Given the description of an element on the screen output the (x, y) to click on. 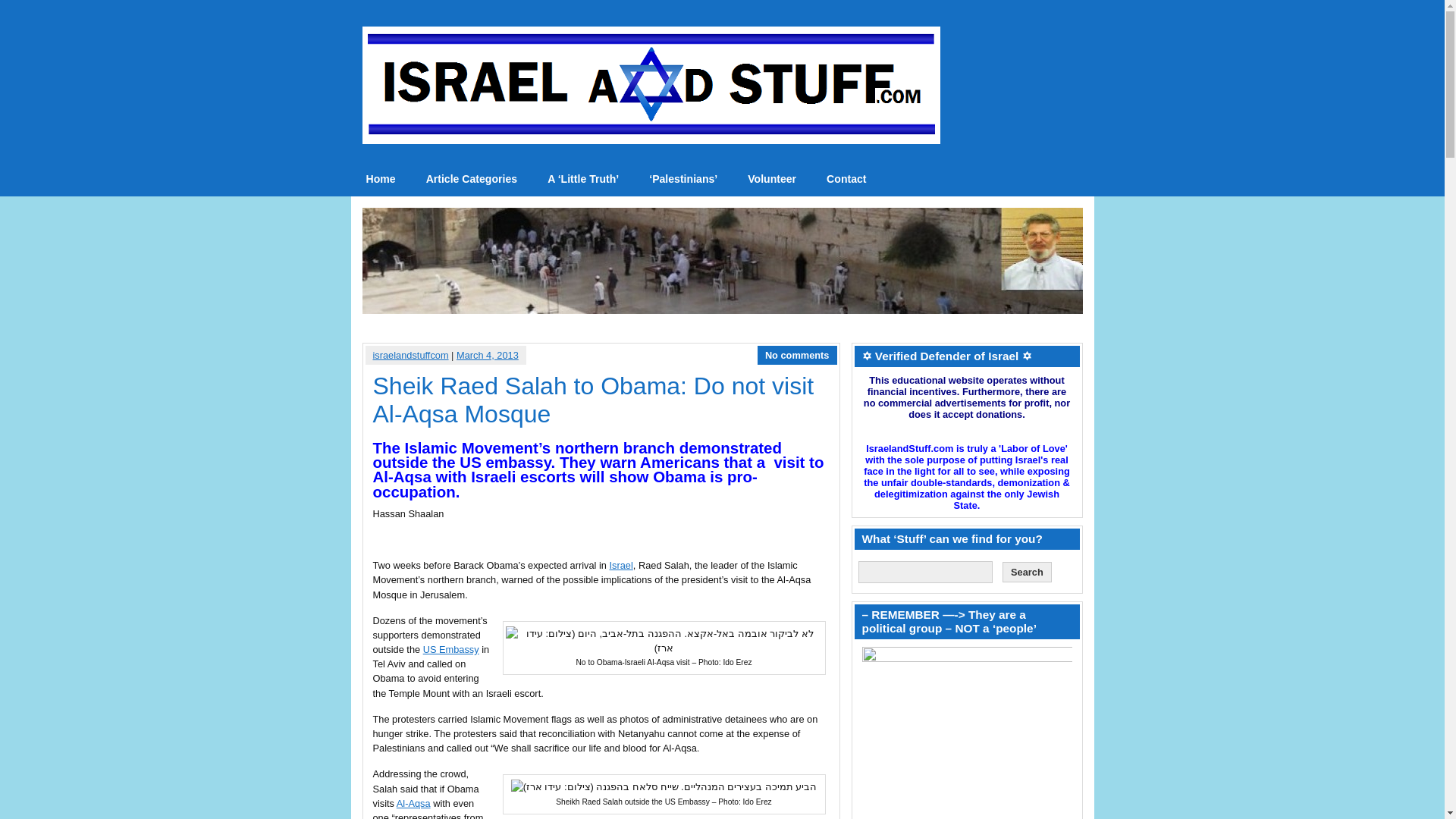
news (380, 178)
No comments (797, 355)
israelandstuffcom (410, 355)
Search (1027, 571)
Posts by israelandstuffcom (410, 355)
Contact (845, 178)
Article Categories (471, 178)
March 4, 2013 (487, 355)
Home (380, 178)
Volunteer (771, 178)
